Given the description of an element on the screen output the (x, y) to click on. 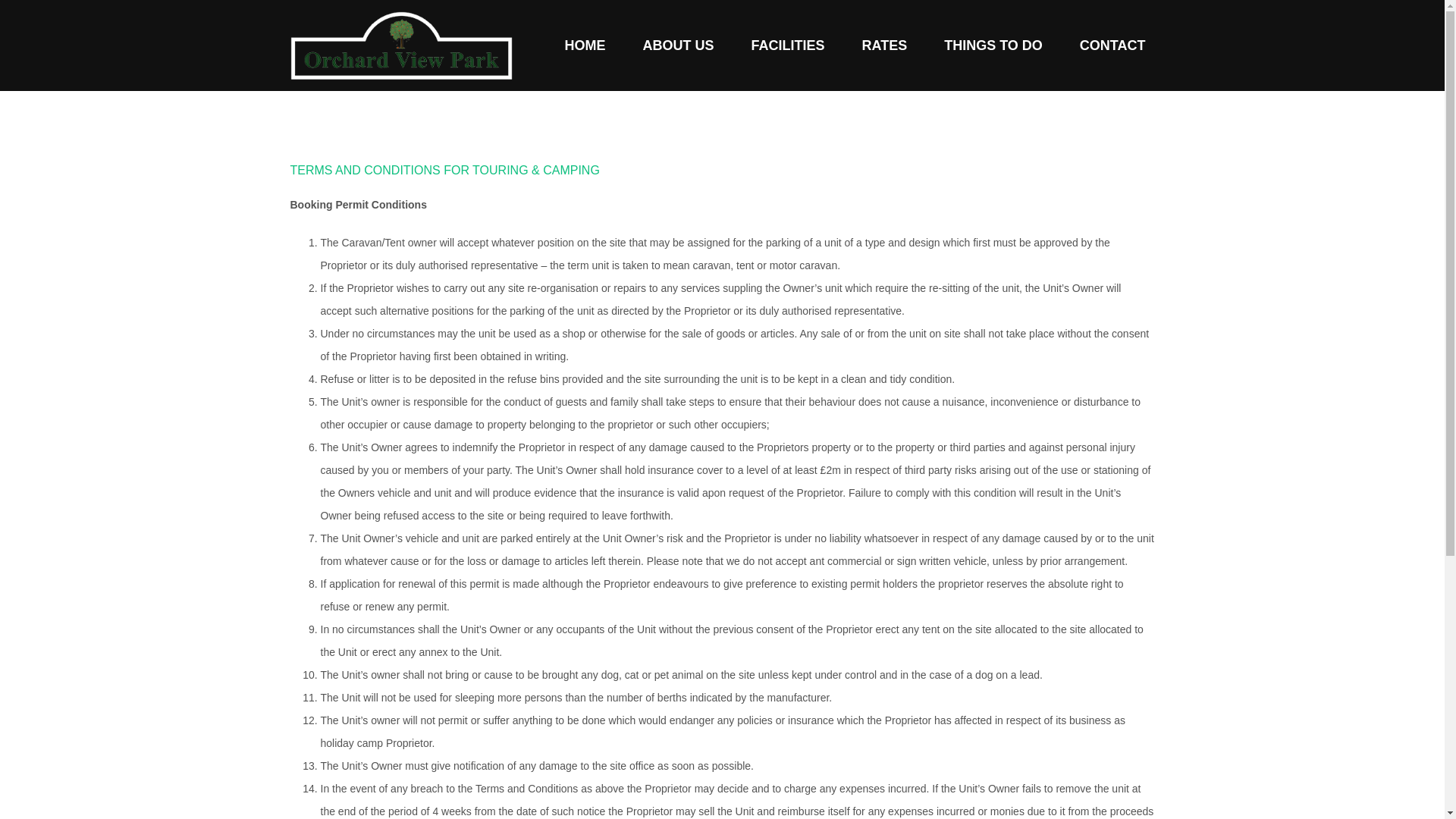
RATES (883, 45)
ABOUT US (677, 45)
FACILITIES (786, 45)
HOME (584, 45)
THINGS TO DO (992, 45)
CONTACT (1112, 45)
